Given the description of an element on the screen output the (x, y) to click on. 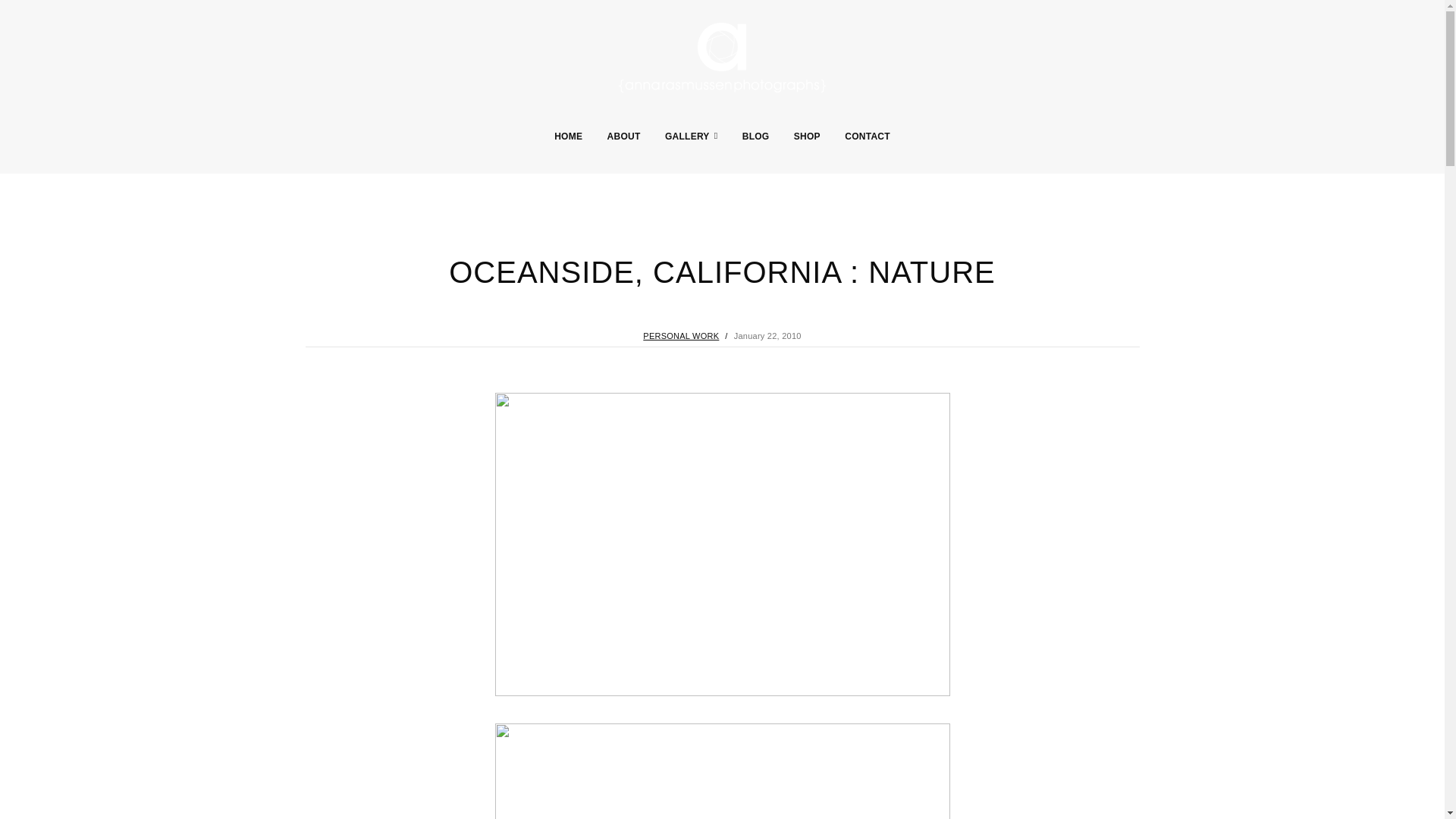
BLOG (756, 135)
SHOP (807, 135)
CONTACT (867, 135)
PERSONAL WORK (681, 335)
GALLERY (691, 135)
HOME (568, 135)
ABOUT (623, 135)
